Given the description of an element on the screen output the (x, y) to click on. 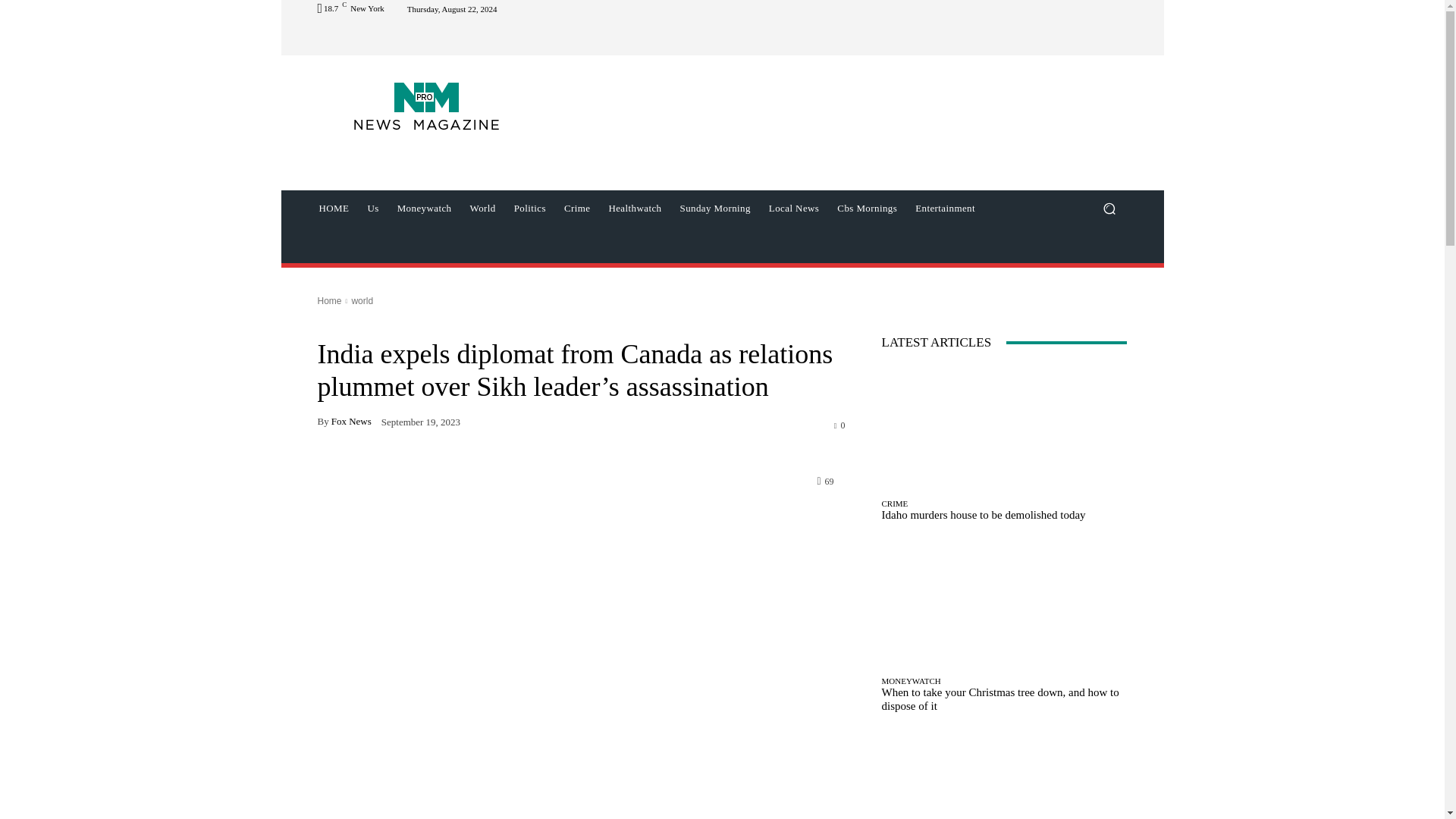
Sunday Morning (713, 208)
View all posts in world (361, 300)
Healthwatch (633, 208)
Moneywatch (424, 208)
Cbs Mornings (866, 208)
World (483, 208)
Local News (794, 208)
Politics (529, 208)
Crime (576, 208)
Entertainment (944, 208)
